Given the description of an element on the screen output the (x, y) to click on. 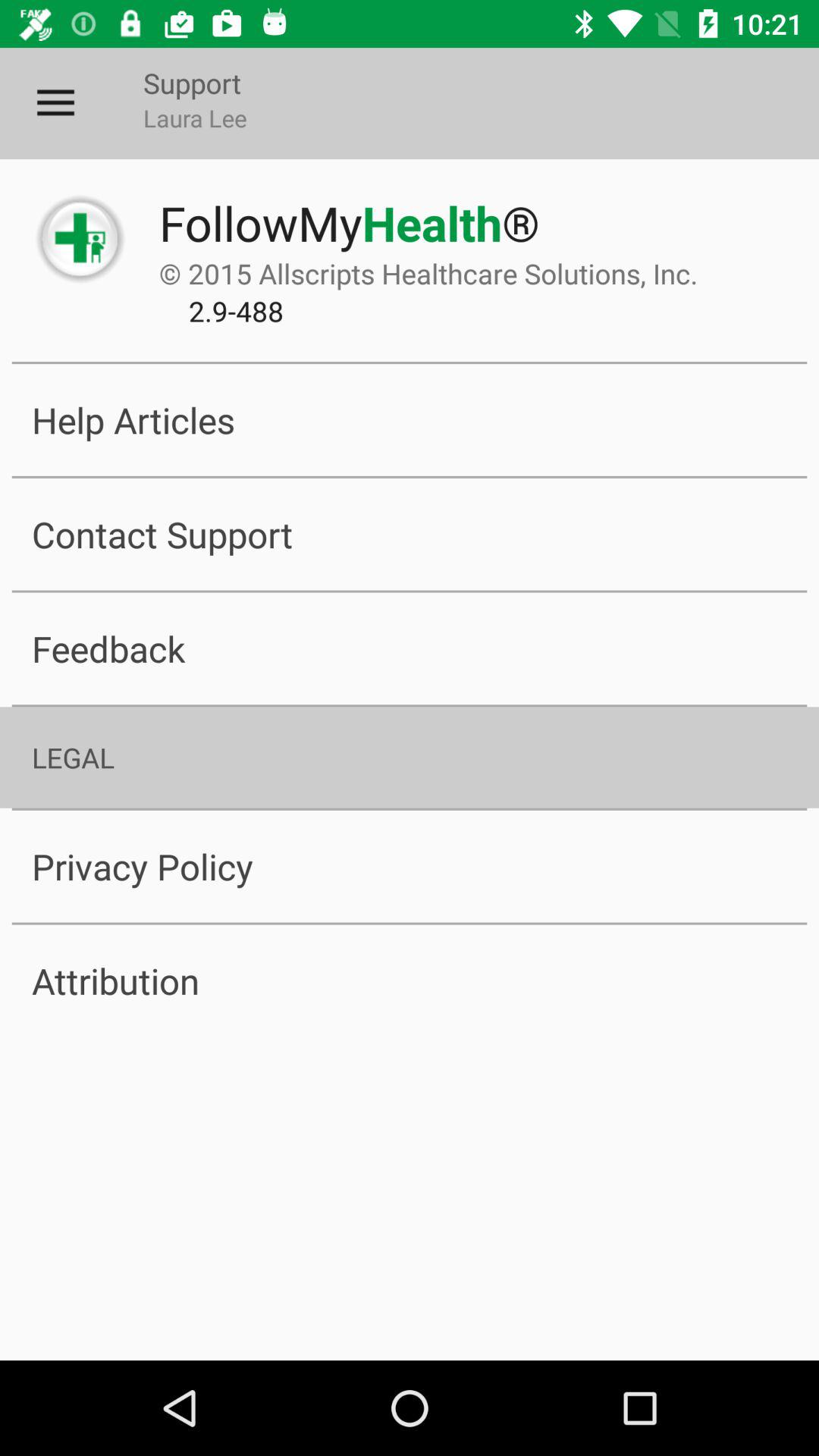
tap item above the attribution (409, 866)
